Given the description of an element on the screen output the (x, y) to click on. 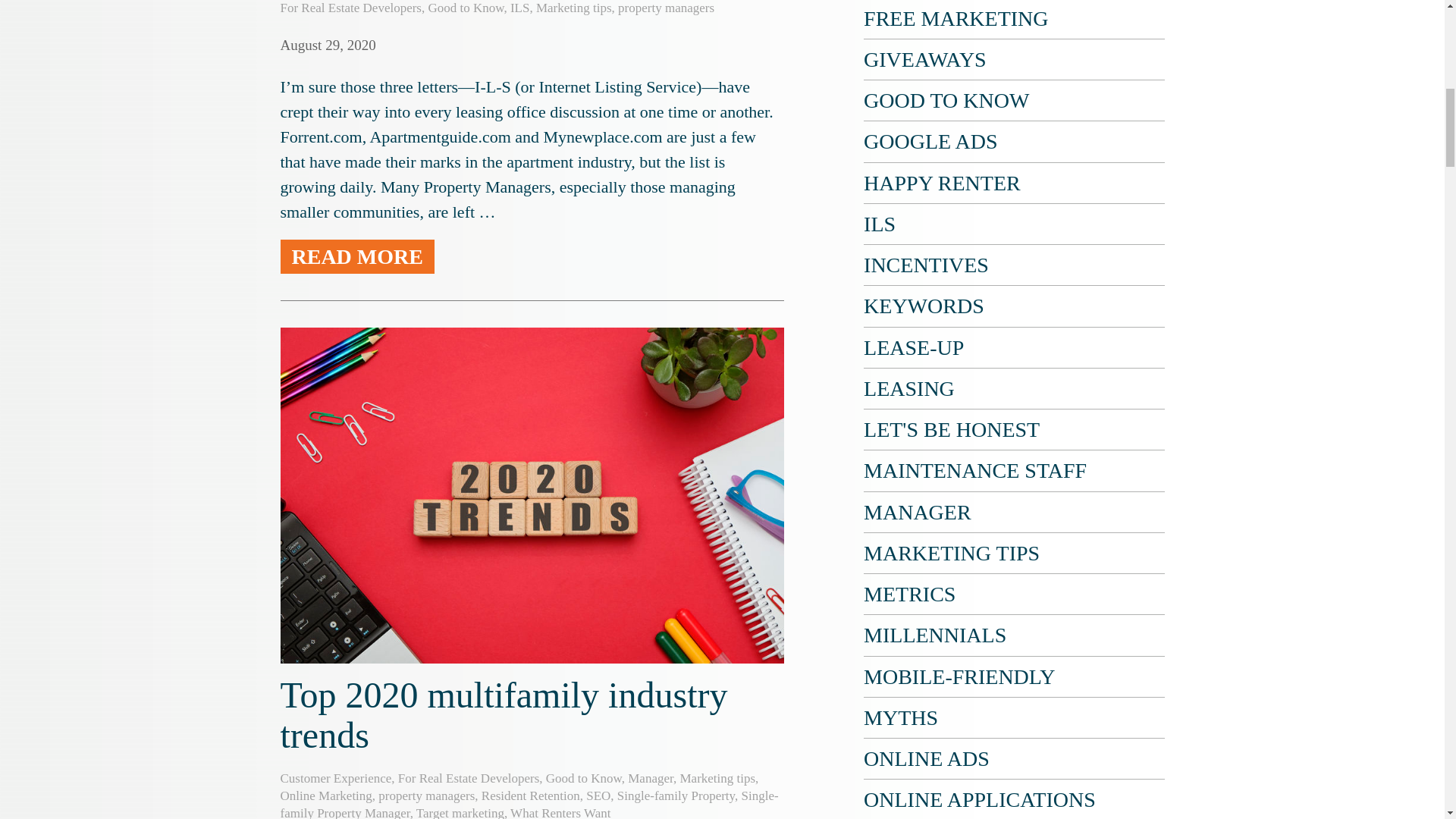
Marketing tips (573, 7)
Good to Know (583, 778)
Good to Know (465, 7)
For Real Estate Developers (467, 778)
August 29, 2020 (328, 44)
Customer Experience (336, 778)
Top 2020 multifamily industry trends (504, 714)
Manager (649, 778)
READ MORE (357, 256)
For Real Estate Developers (351, 7)
